Given the description of an element on the screen output the (x, y) to click on. 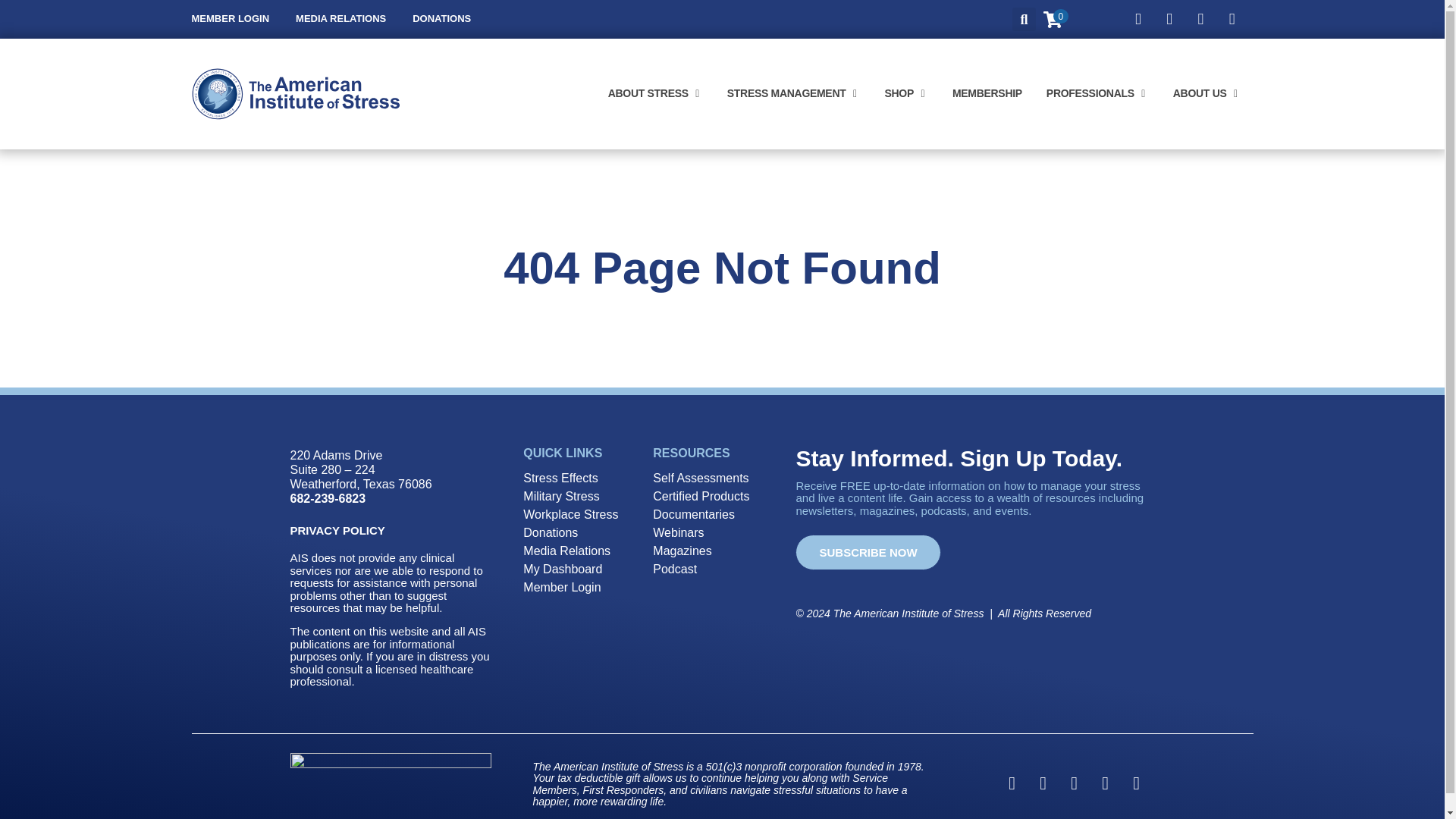
0 (1052, 23)
MEMBER LOGIN (229, 19)
View your shopping cart (1052, 23)
DONATIONS (441, 19)
MEDIA RELATIONS (340, 19)
